Given the description of an element on the screen output the (x, y) to click on. 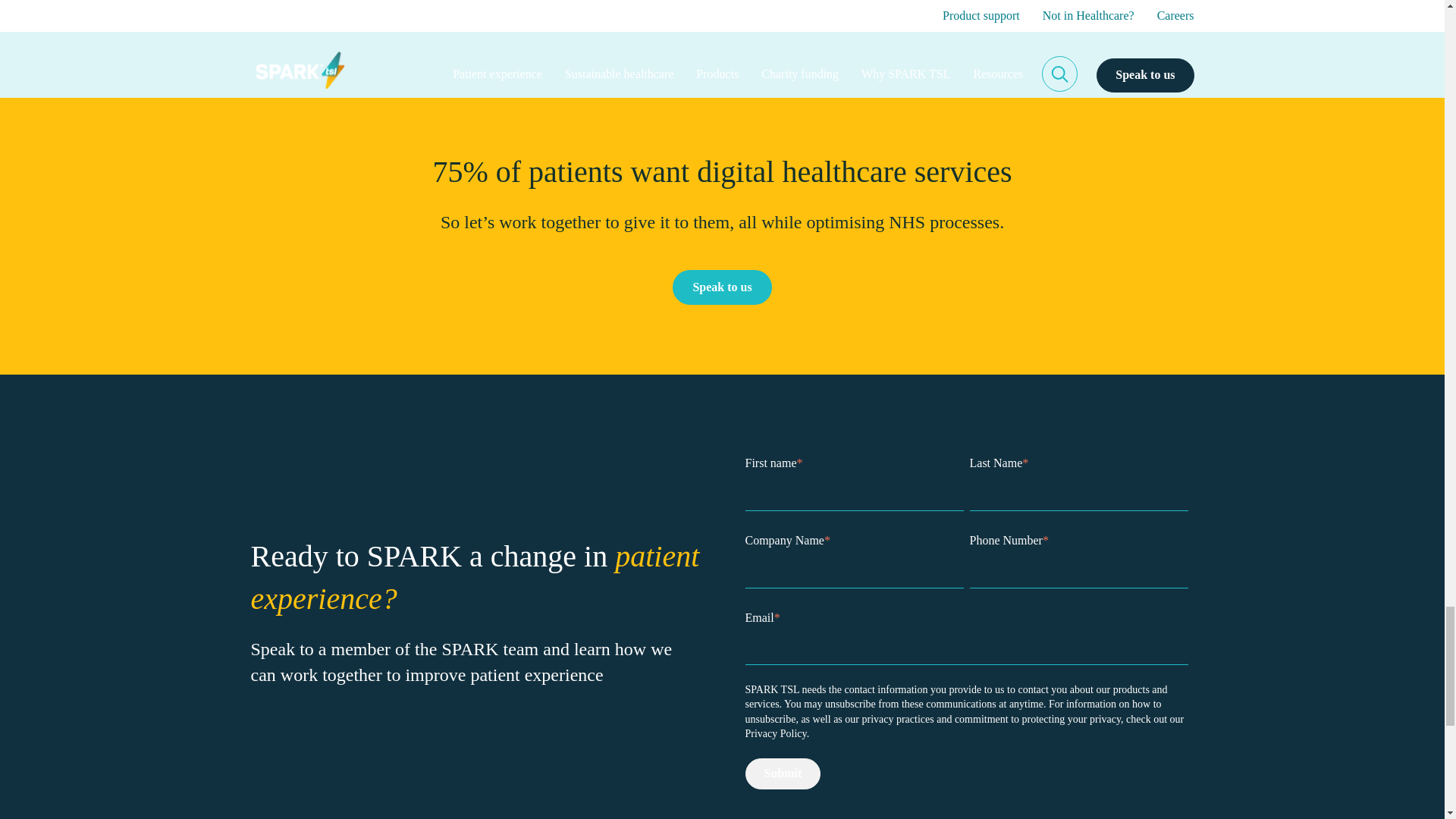
Submit (782, 773)
Speak to us (721, 287)
